Given the description of an element on the screen output the (x, y) to click on. 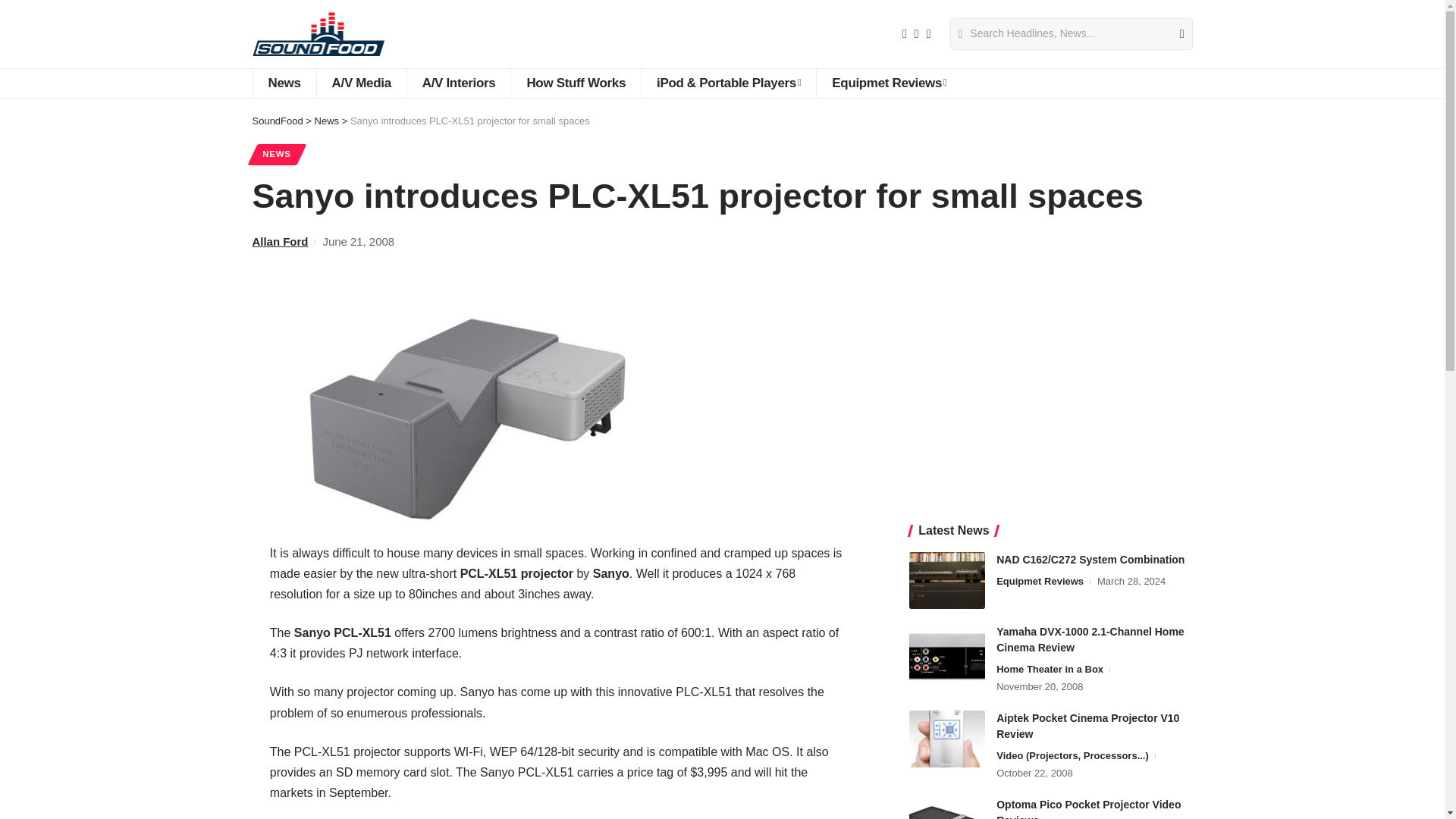
Optoma Pico Pocket Projector Video Reviews (946, 807)
Go to SoundFood. (276, 120)
Equipmet Reviews (887, 82)
How Stuff Works (575, 82)
Advertisement (1050, 387)
News (283, 82)
SoundFood (318, 33)
sanyoprojectorplcxl51.jpg (468, 417)
Search (1175, 33)
Yamaha DVX-1000 2.1-Channel Home Cinema Review (946, 651)
Aiptek Pocket Cinema Projector V10 Review (946, 738)
Go to the News Category archives. (326, 120)
